Given the description of an element on the screen output the (x, y) to click on. 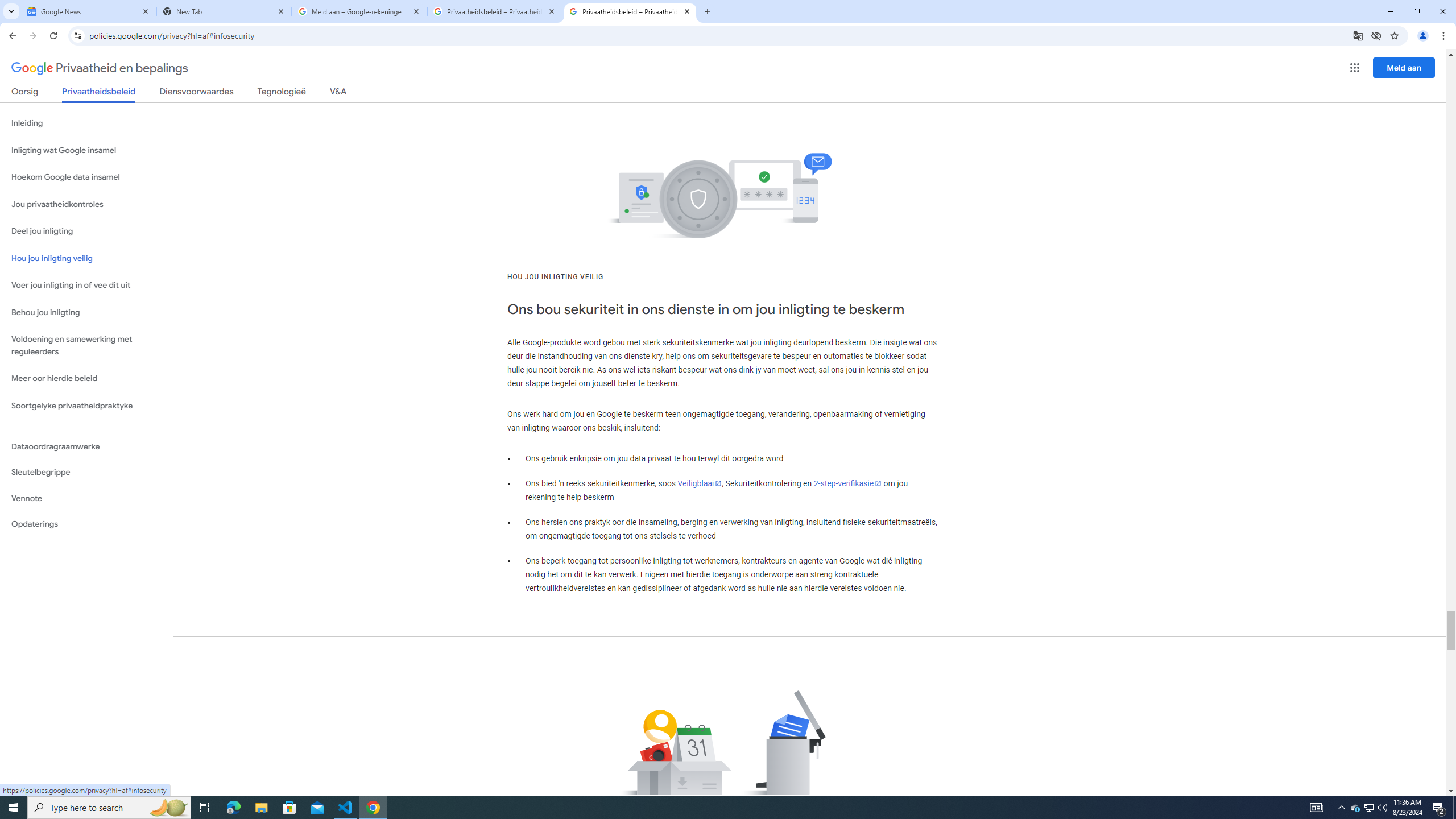
Behou jou inligting (86, 312)
Voldoening en samewerking met reguleerders (86, 345)
Dataoordragraamwerke (86, 446)
Translate this page (1358, 35)
